Given the description of an element on the screen output the (x, y) to click on. 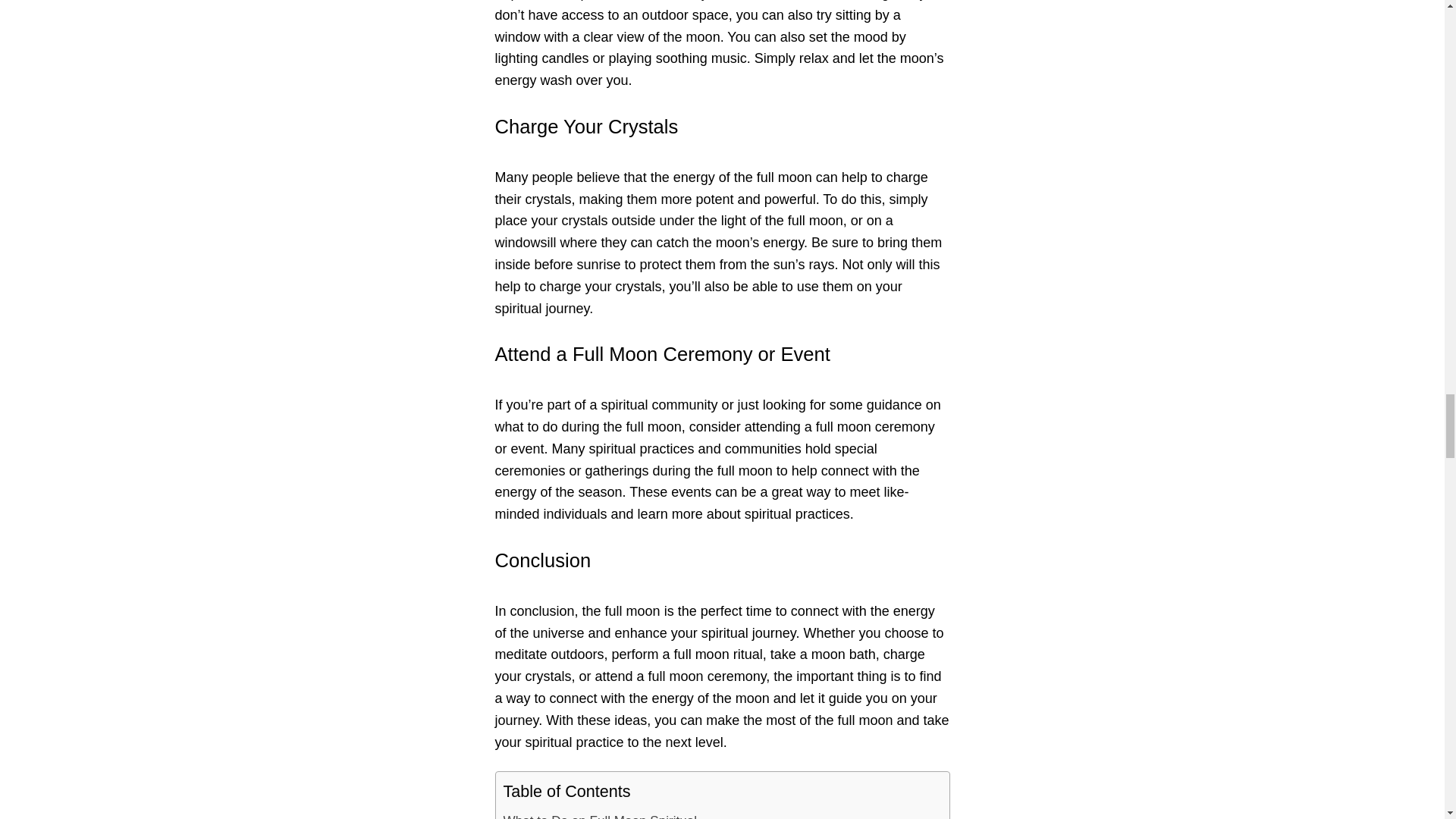
 What to Do on Full Moon Spiritual  (600, 811)
What to Do on Full Moon Spiritual (600, 811)
